Given the description of an element on the screen output the (x, y) to click on. 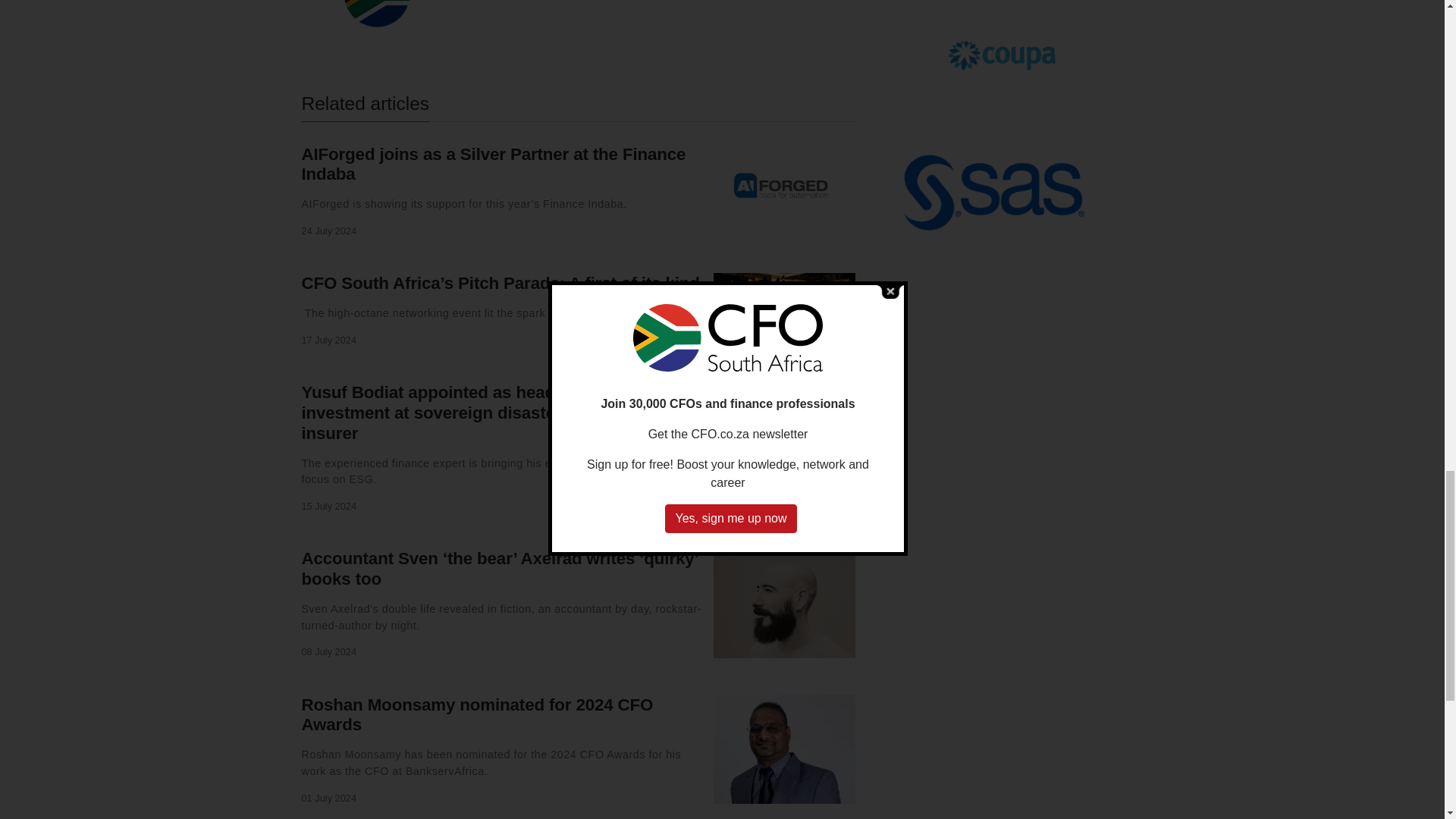
AIForged joins as a Silver Partner at the Finance Indaba (493, 163)
Roshan Moonsamy nominated for 2024 CFO Awards (477, 713)
